Given the description of an element on the screen output the (x, y) to click on. 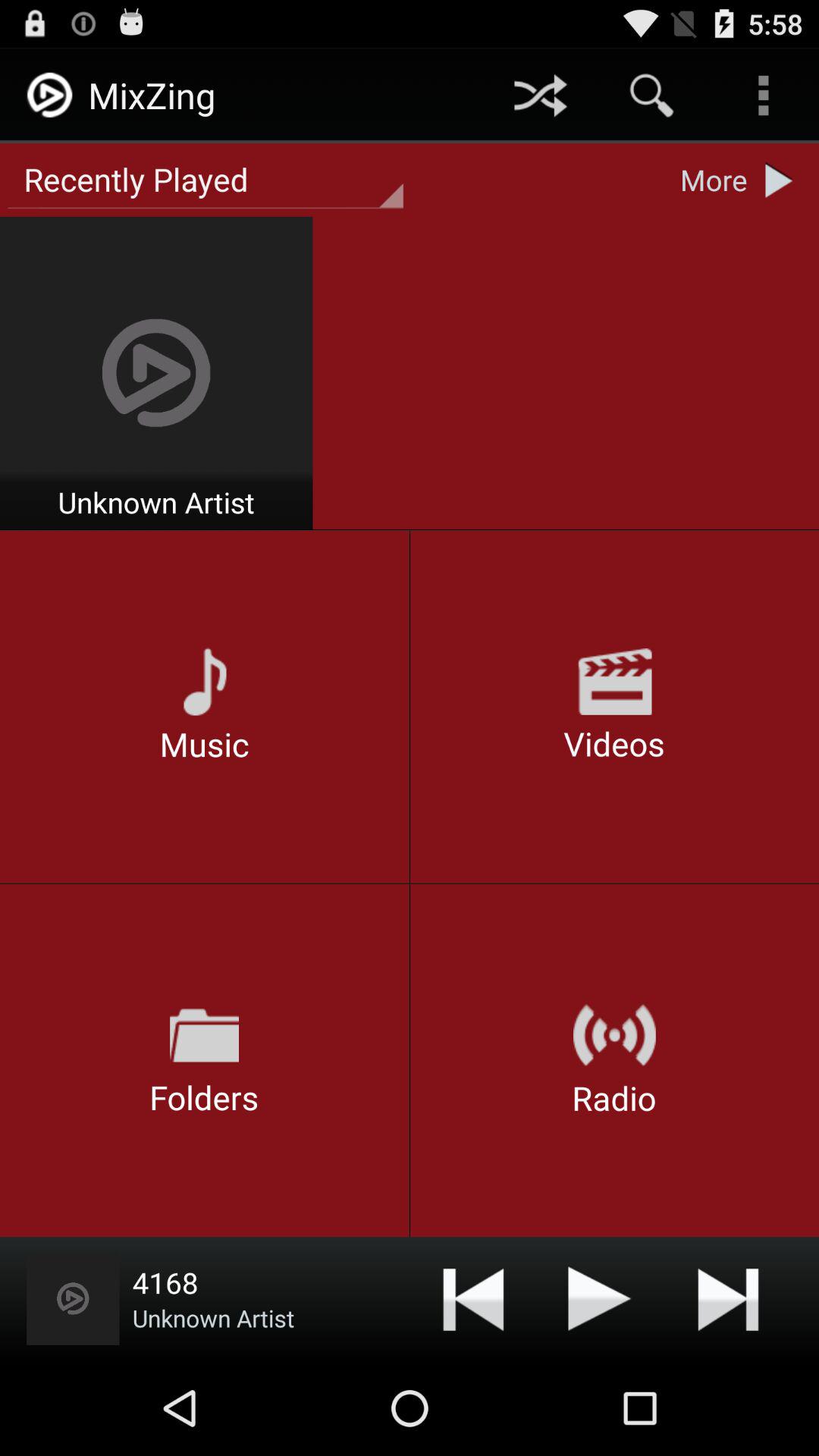
play option (600, 1298)
